Given the description of an element on the screen output the (x, y) to click on. 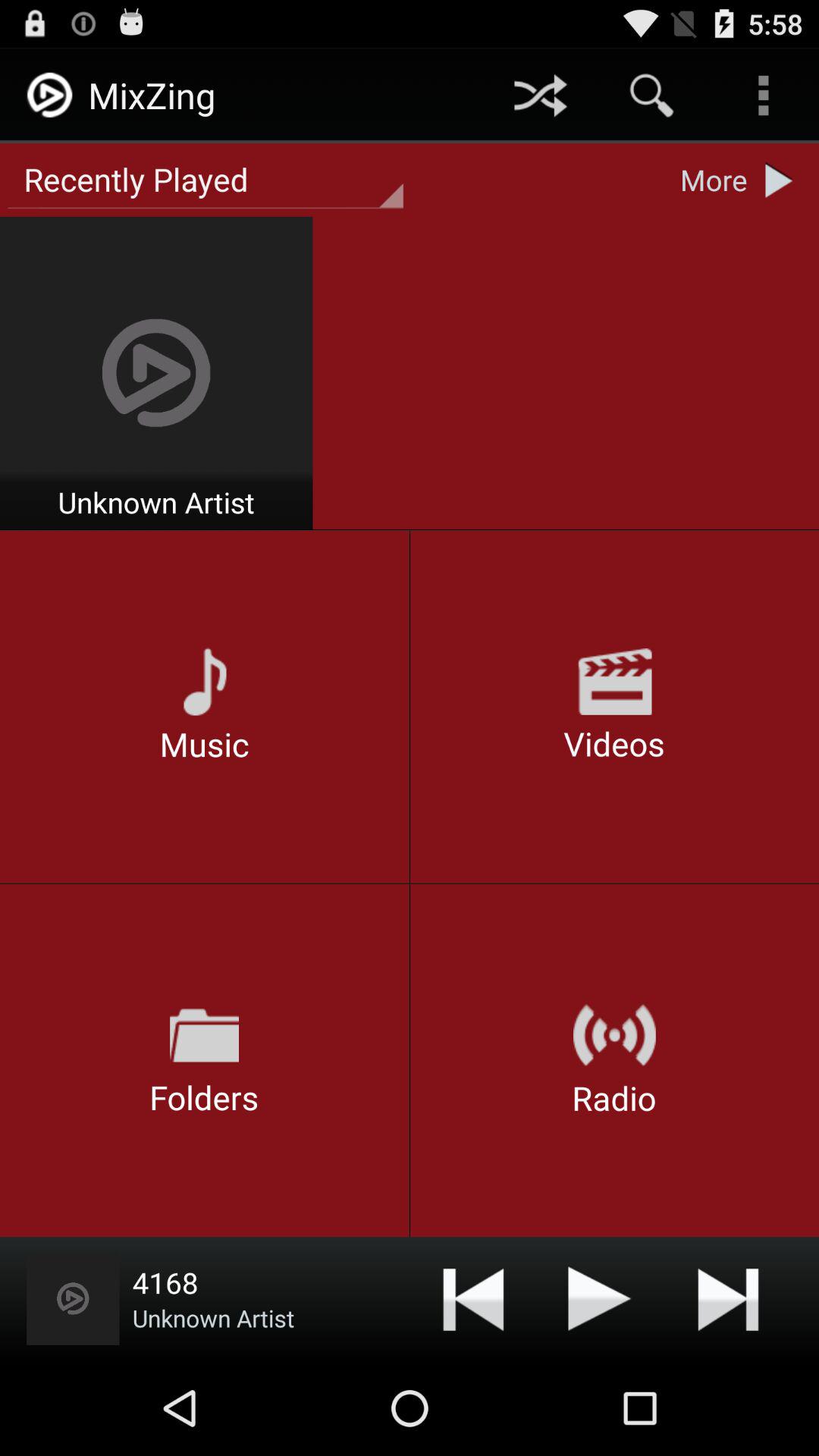
play option (600, 1298)
